Given the description of an element on the screen output the (x, y) to click on. 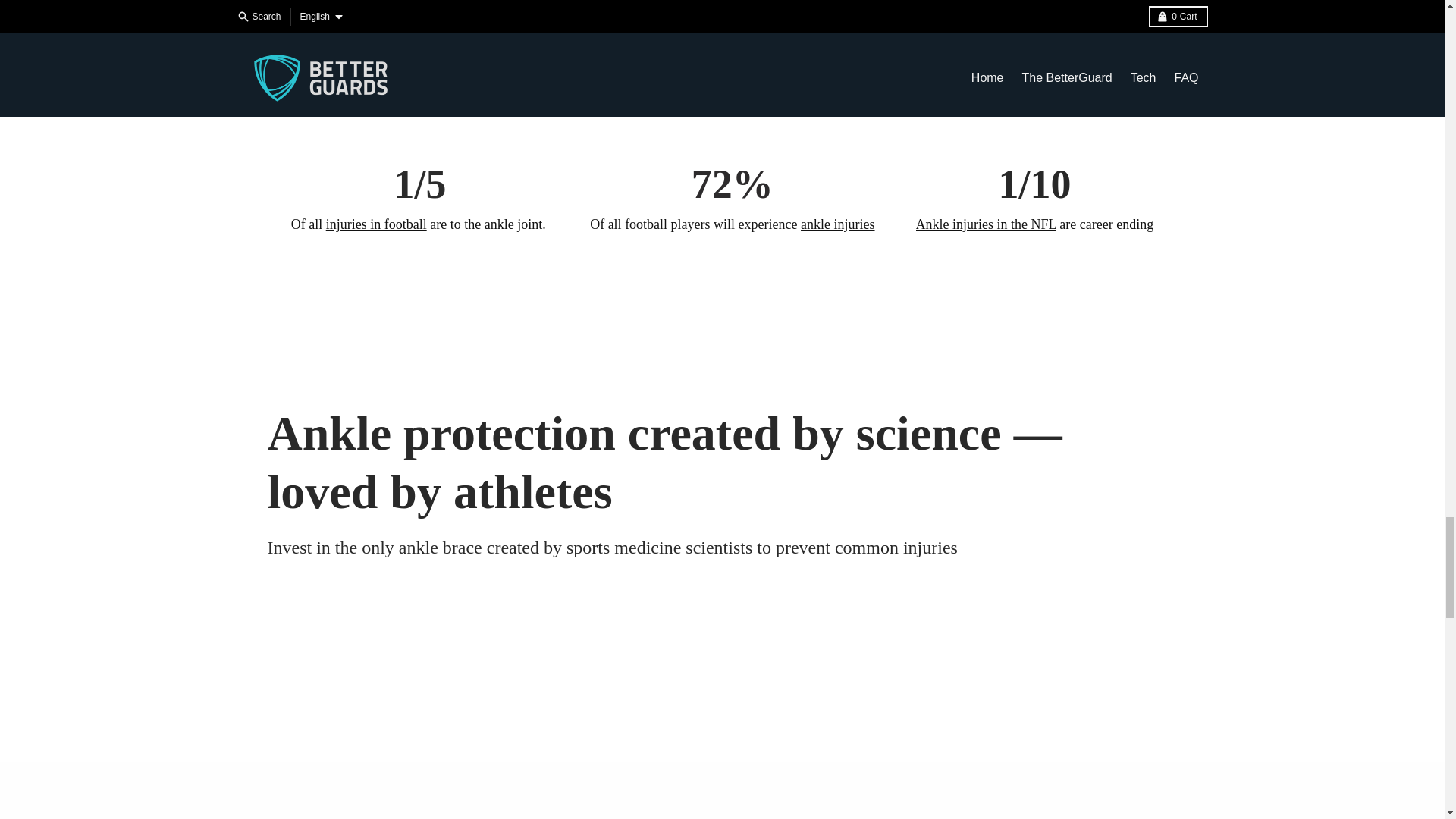
Ankle injuries in the NFL (986, 224)
injuries in football (376, 224)
ankle injuries (837, 224)
